Given the description of an element on the screen output the (x, y) to click on. 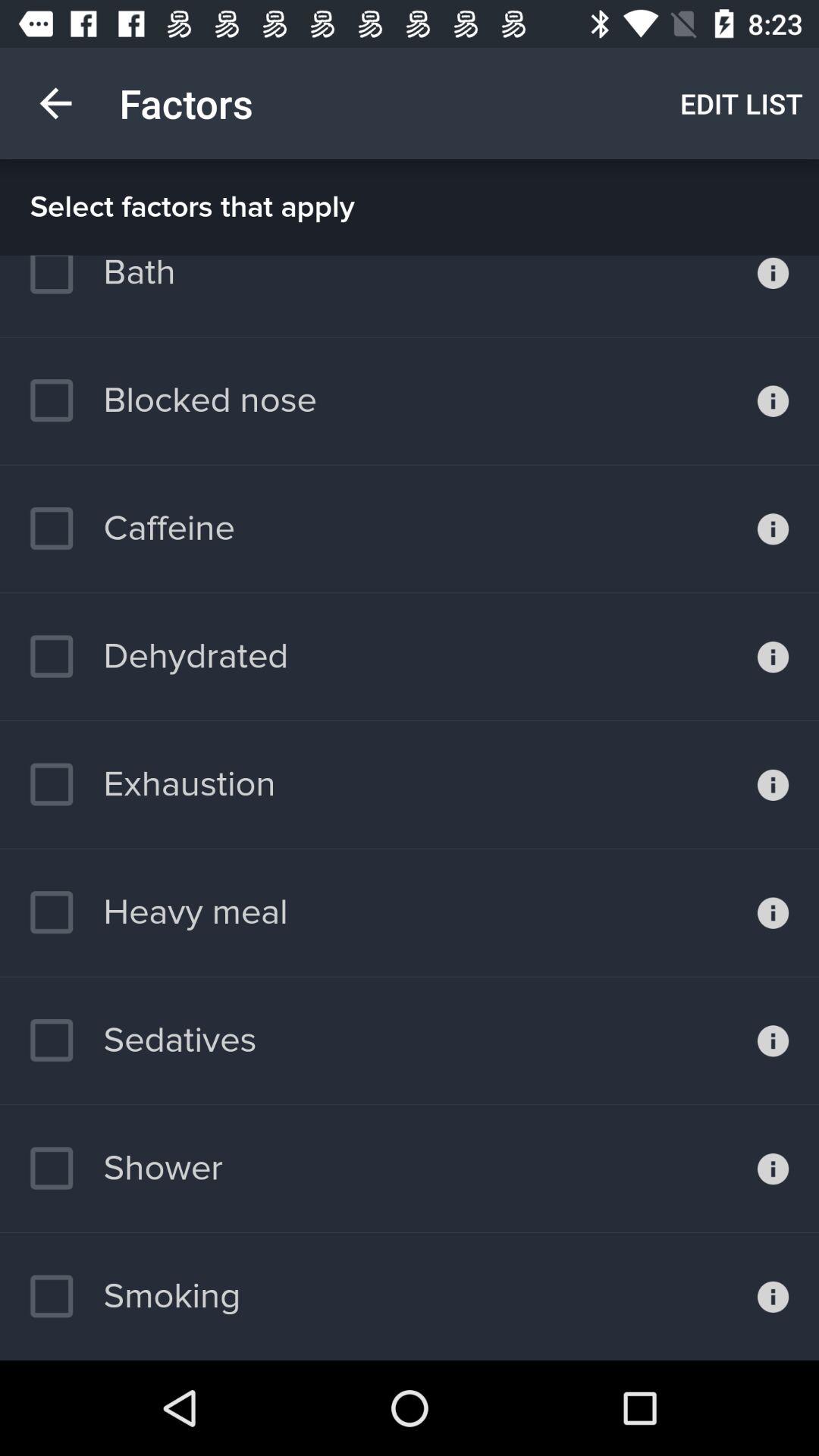
press the icon below heavy meal (143, 1040)
